Given the description of an element on the screen output the (x, y) to click on. 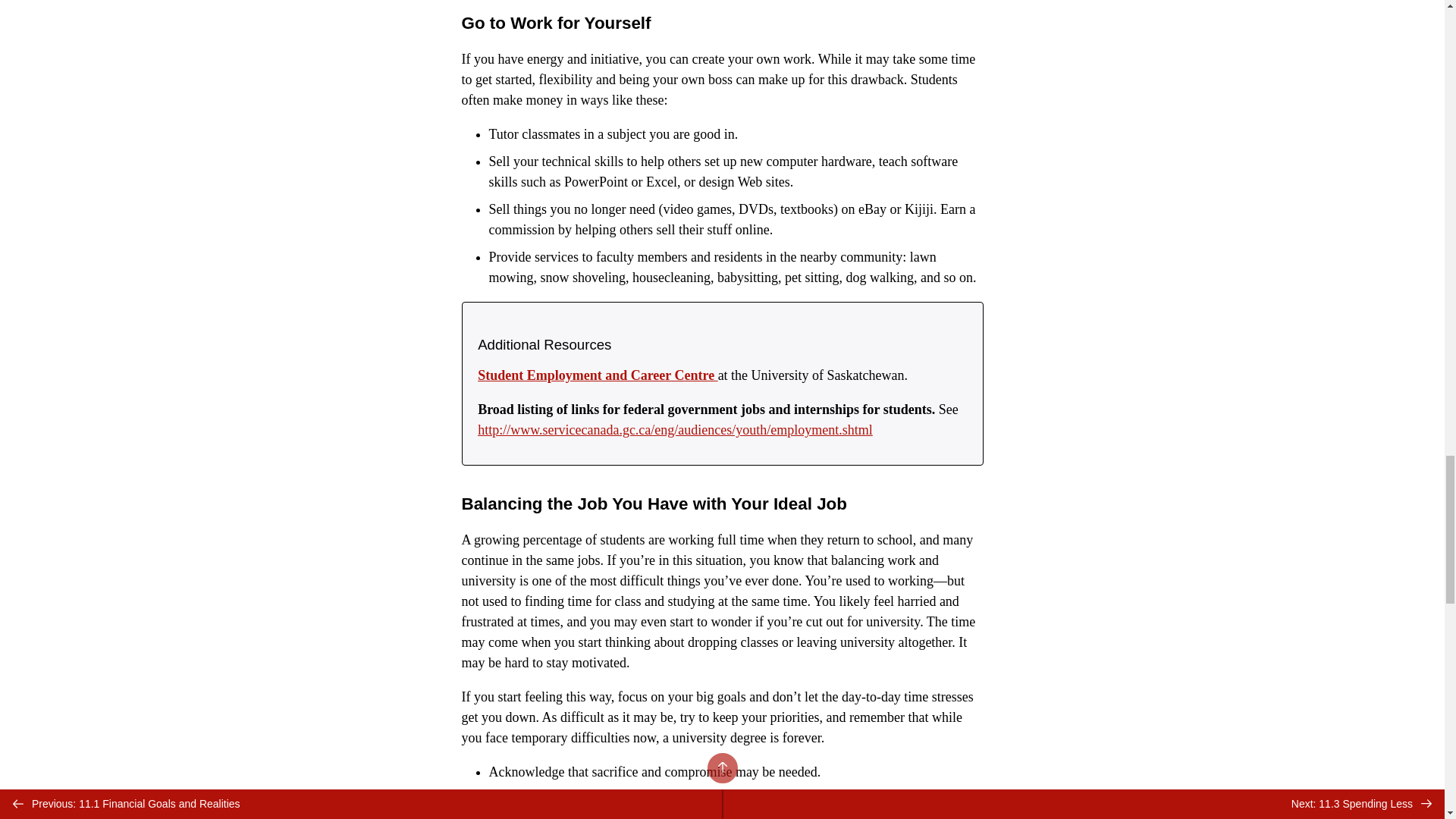
Student Employment and Career Centre (597, 375)
